Given the description of an element on the screen output the (x, y) to click on. 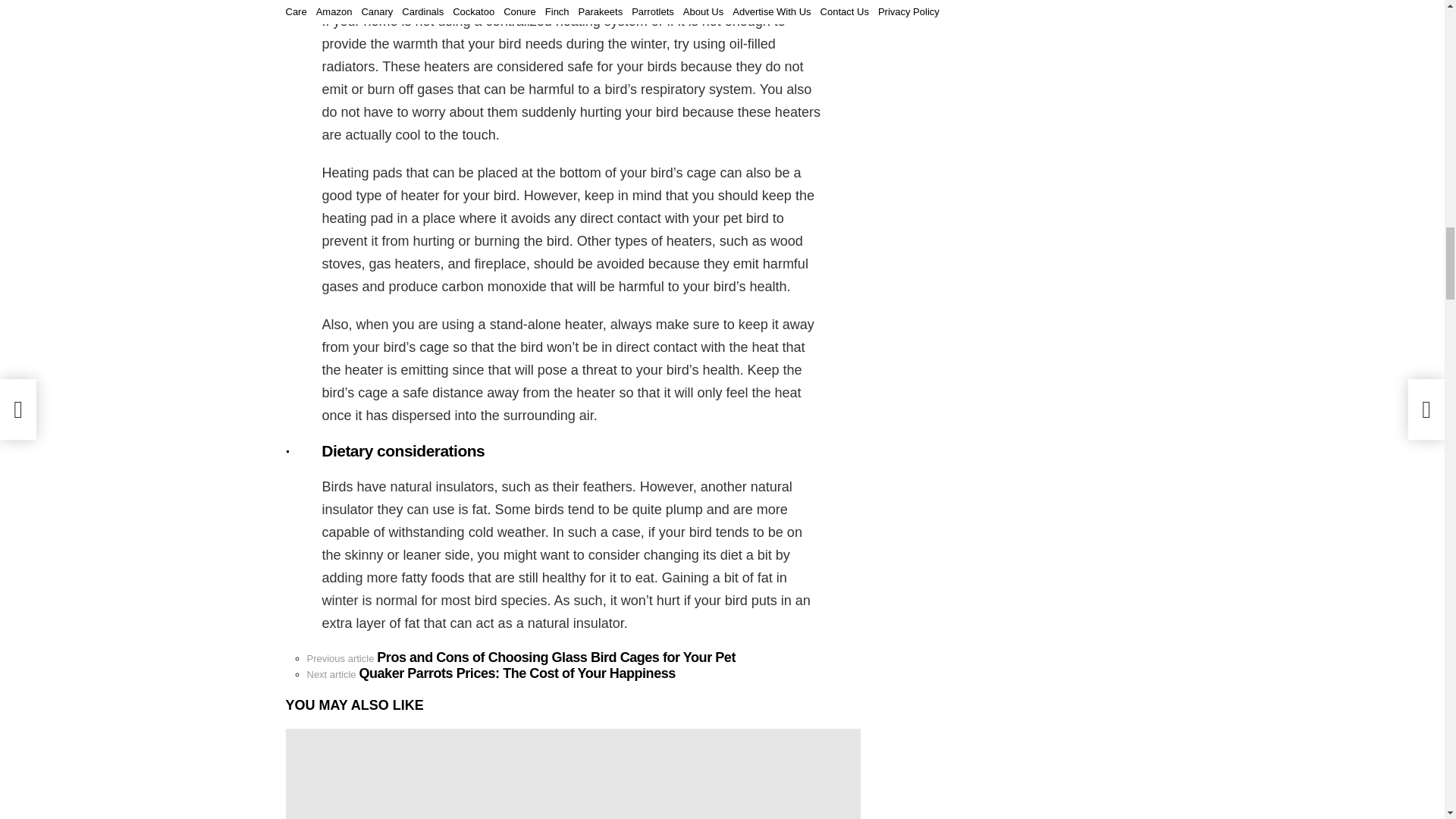
Common Signs Your Parakeet Is Sick and How To Respond (572, 773)
